Given the description of an element on the screen output the (x, y) to click on. 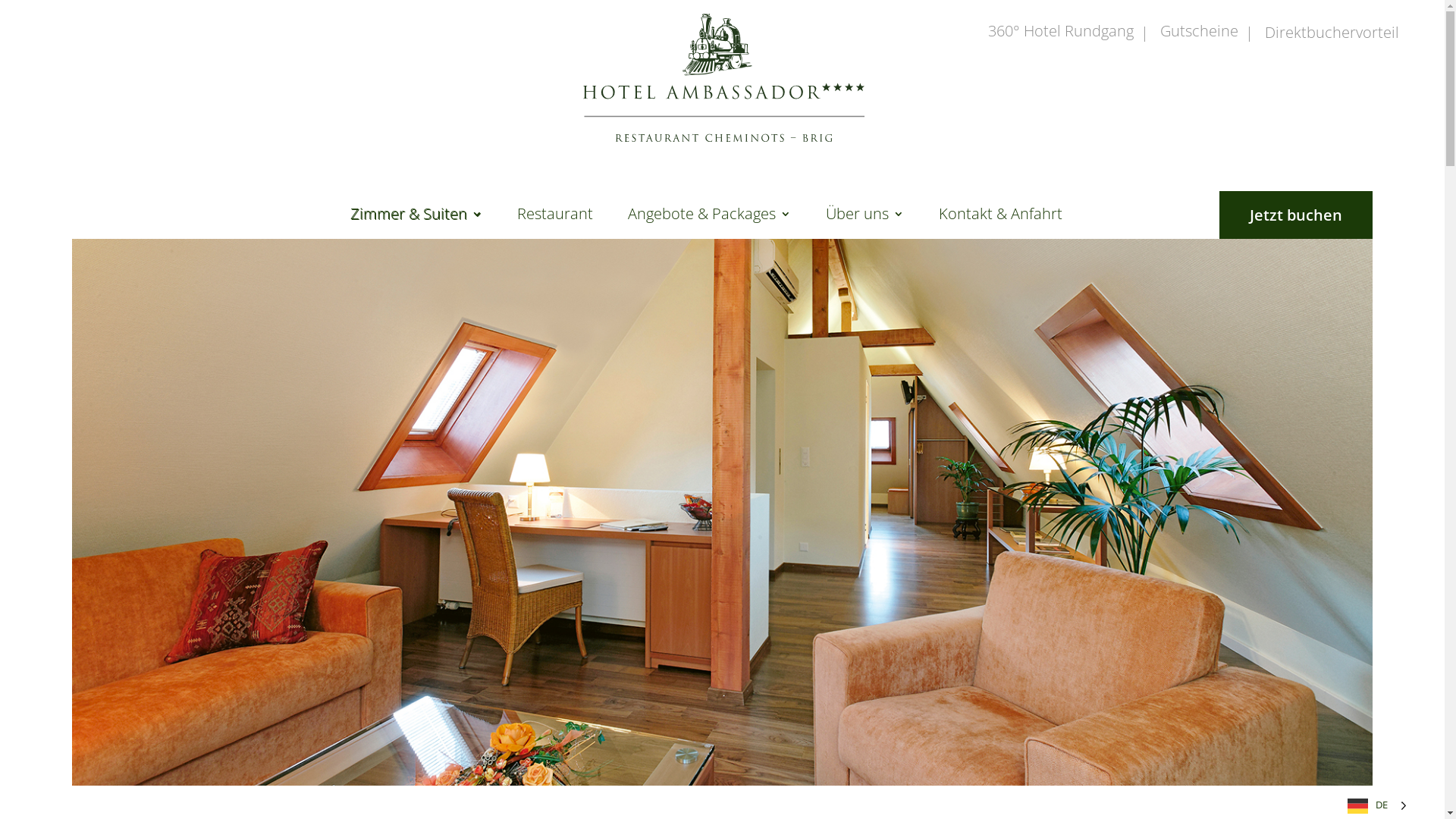
Restaurant Element type: text (555, 224)
Angebote & Packages Element type: text (708, 224)
Jetzt buchen Element type: text (1295, 214)
Gutscheine Element type: text (1199, 36)
Ambassador_Headerbilder Element type: hover (722, 511)
Kontakt & Anfahrt Element type: text (1000, 224)
Zimmer & Suiten Element type: text (416, 224)
Direktbuchervorteil Element type: text (1331, 38)
